Given the description of an element on the screen output the (x, y) to click on. 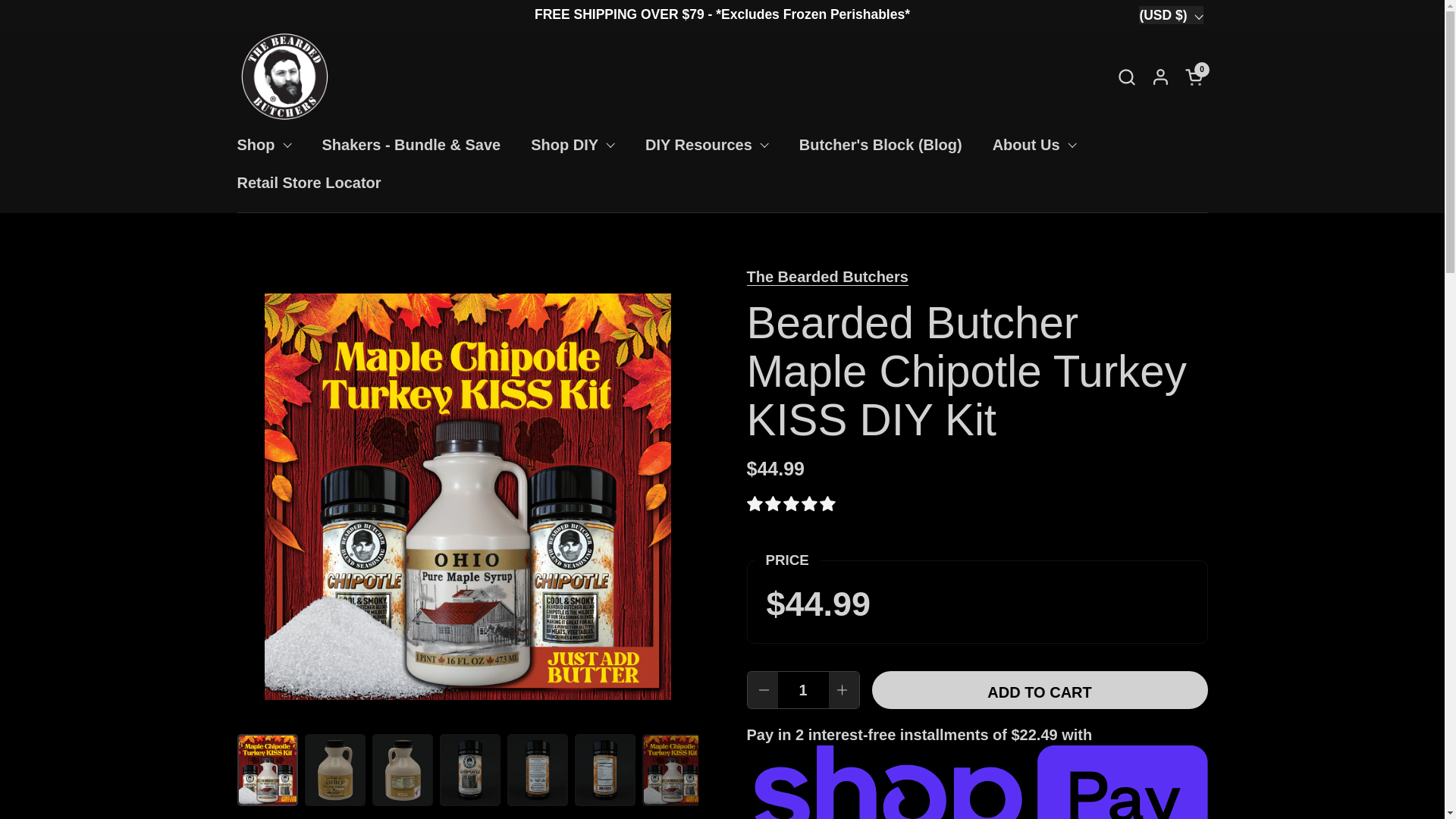
Shop (1196, 75)
Shop DIY (263, 144)
The Bearded Butchers (572, 144)
Skip to content (826, 276)
Open search (1034, 144)
Open cart (1125, 75)
DIY Resources (1196, 75)
The Bearded Butchers (707, 144)
